Given the description of an element on the screen output the (x, y) to click on. 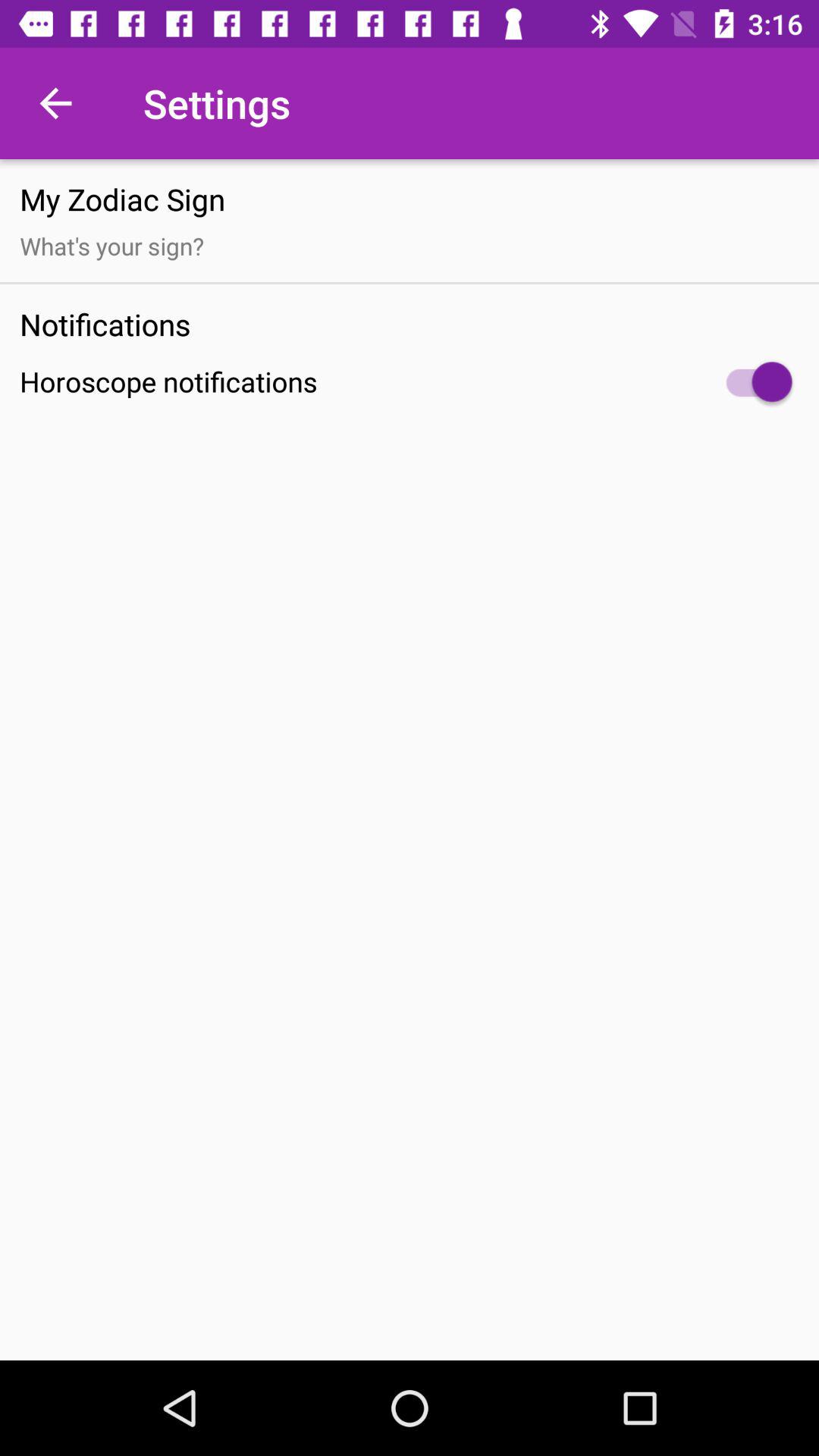
scroll until the horoscope notifications item (409, 381)
